Given the description of an element on the screen output the (x, y) to click on. 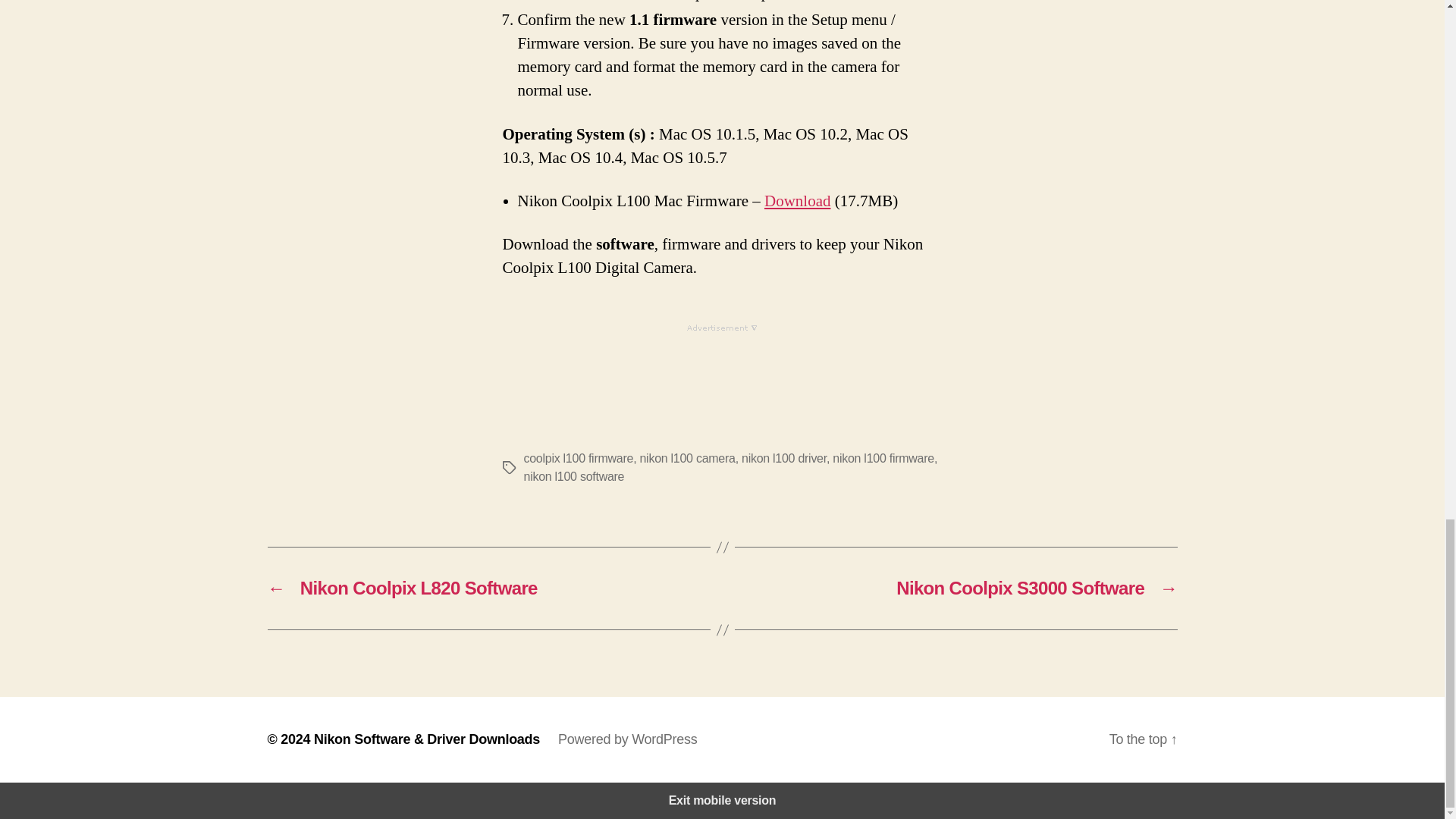
Powered by WordPress (627, 739)
nikon l100 firmware (883, 458)
coolpix l100 firmware (577, 458)
nikon l100 camera (687, 458)
Download (797, 200)
nikon l100 driver (784, 458)
nikon l100 software (573, 476)
